Given the description of an element on the screen output the (x, y) to click on. 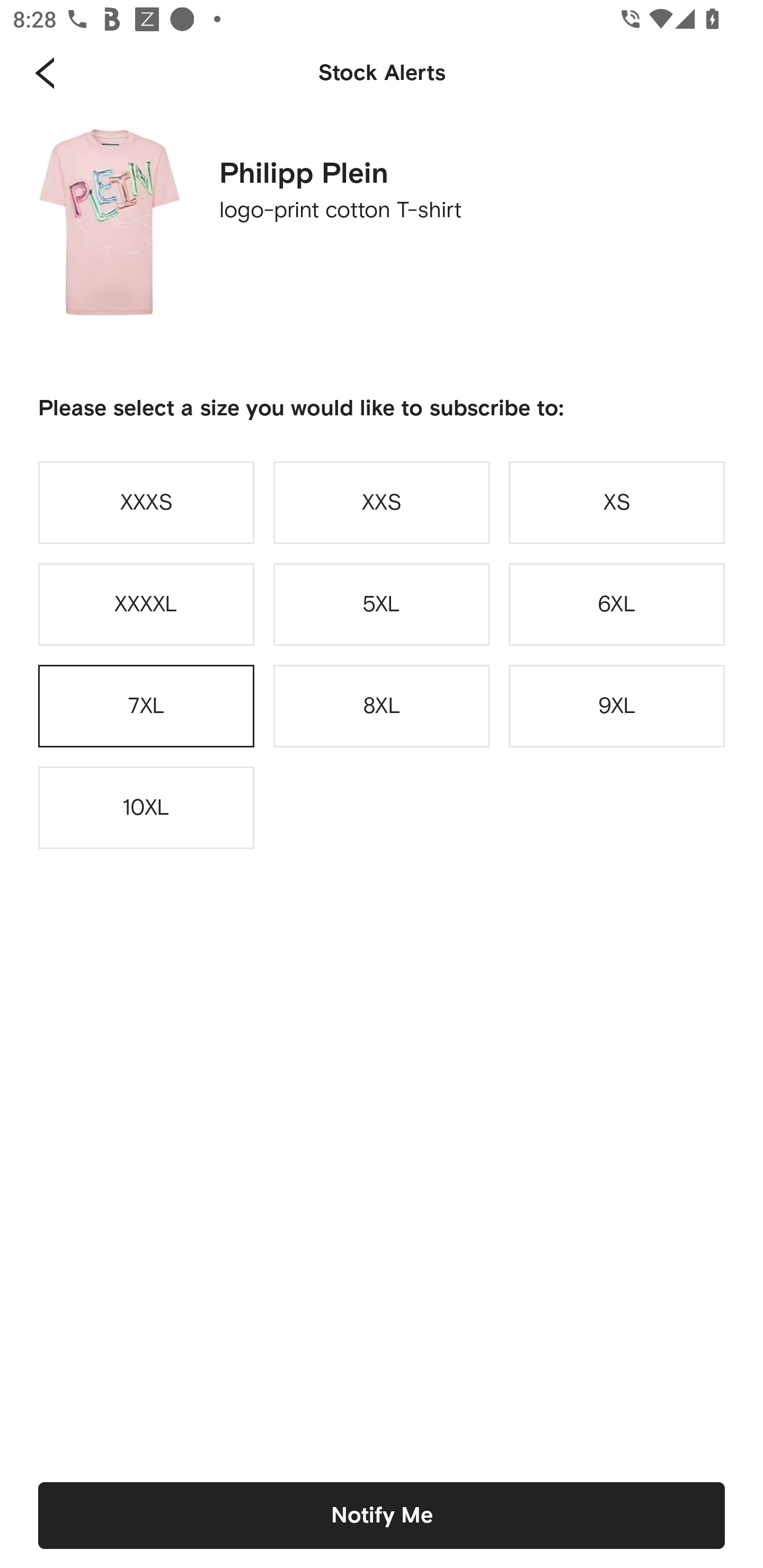
XXXS (146, 502)
XXS (381, 502)
XS (616, 502)
XXXXL (146, 604)
5XL (381, 604)
6XL (616, 604)
7XL (146, 705)
8XL (381, 705)
9XL (616, 705)
10XL (146, 807)
Notify Me (381, 1515)
